Given the description of an element on the screen output the (x, y) to click on. 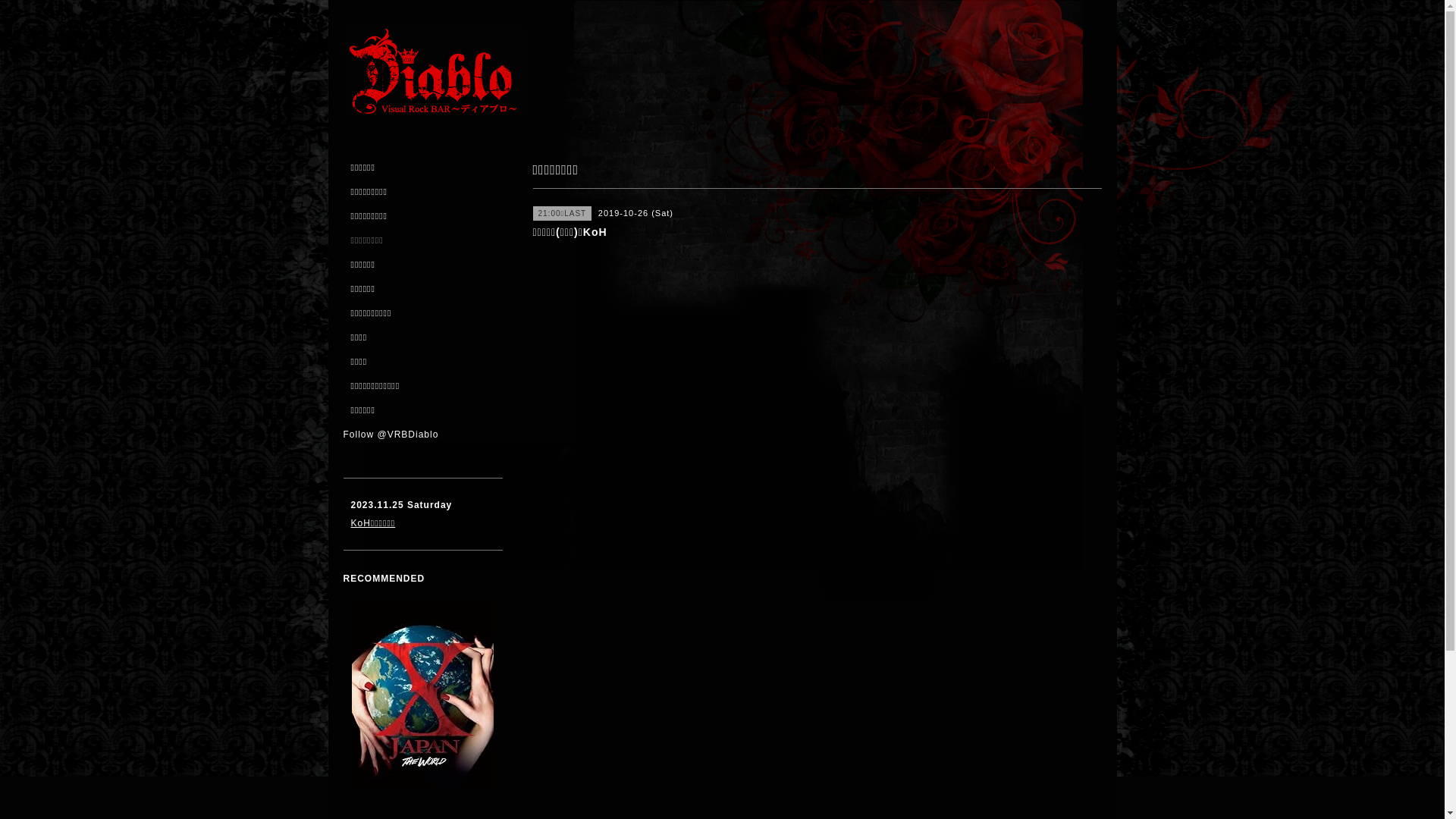
Follow @VRBDiablo Element type: text (390, 434)
